Given the description of an element on the screen output the (x, y) to click on. 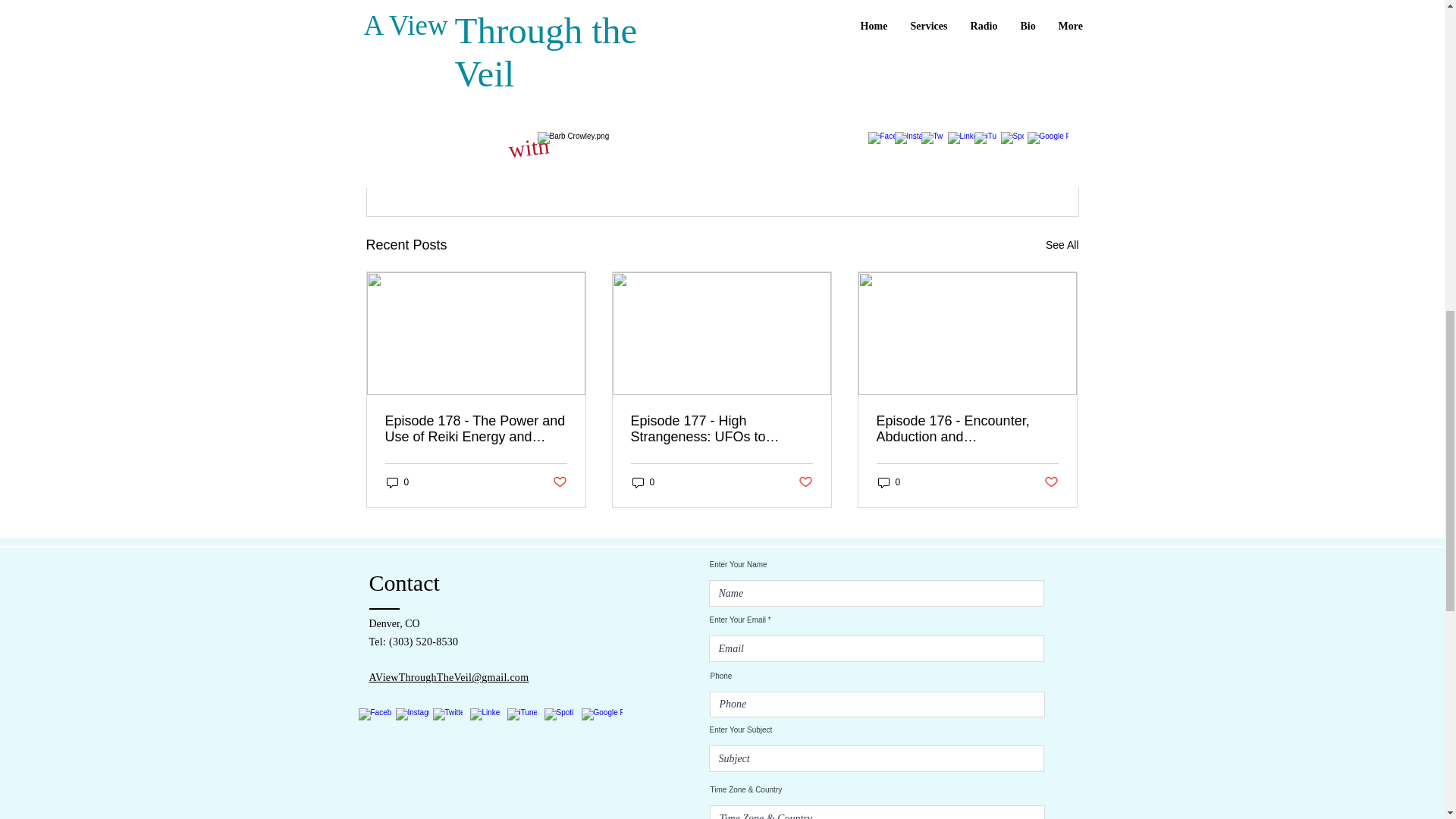
0 (643, 481)
Post not marked as liked (558, 482)
0 (397, 481)
0 (889, 481)
Post not marked as liked (804, 482)
Post not marked as liked (1050, 482)
Post not marked as liked (995, 162)
